Given the description of an element on the screen output the (x, y) to click on. 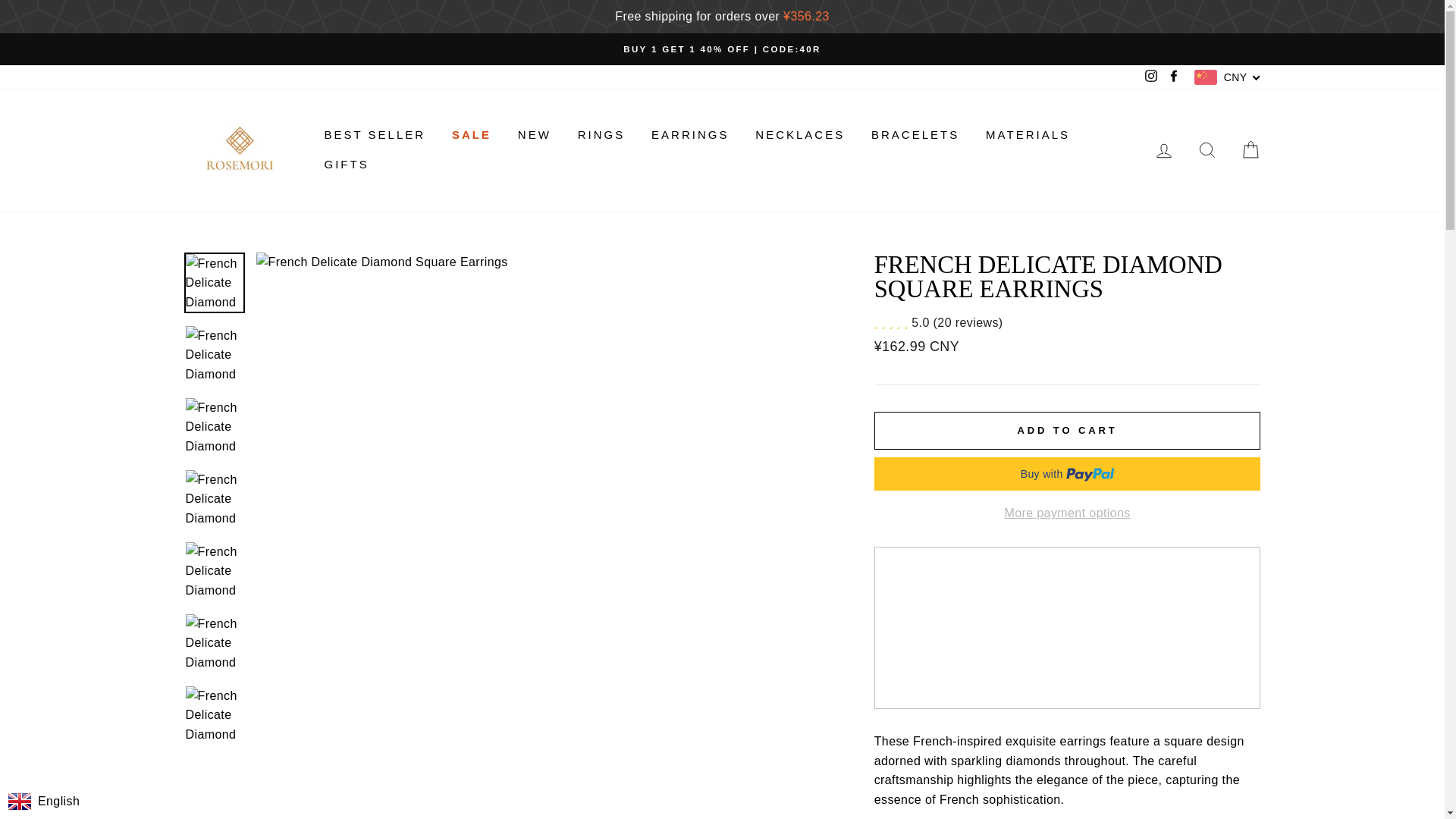
BRACELETS (915, 134)
NECKLACES (800, 134)
SALE (471, 134)
NEW (534, 134)
MATERIALS (1027, 134)
EARRINGS (689, 134)
BEST SELLER (374, 134)
RINGS (601, 134)
